Given the description of an element on the screen output the (x, y) to click on. 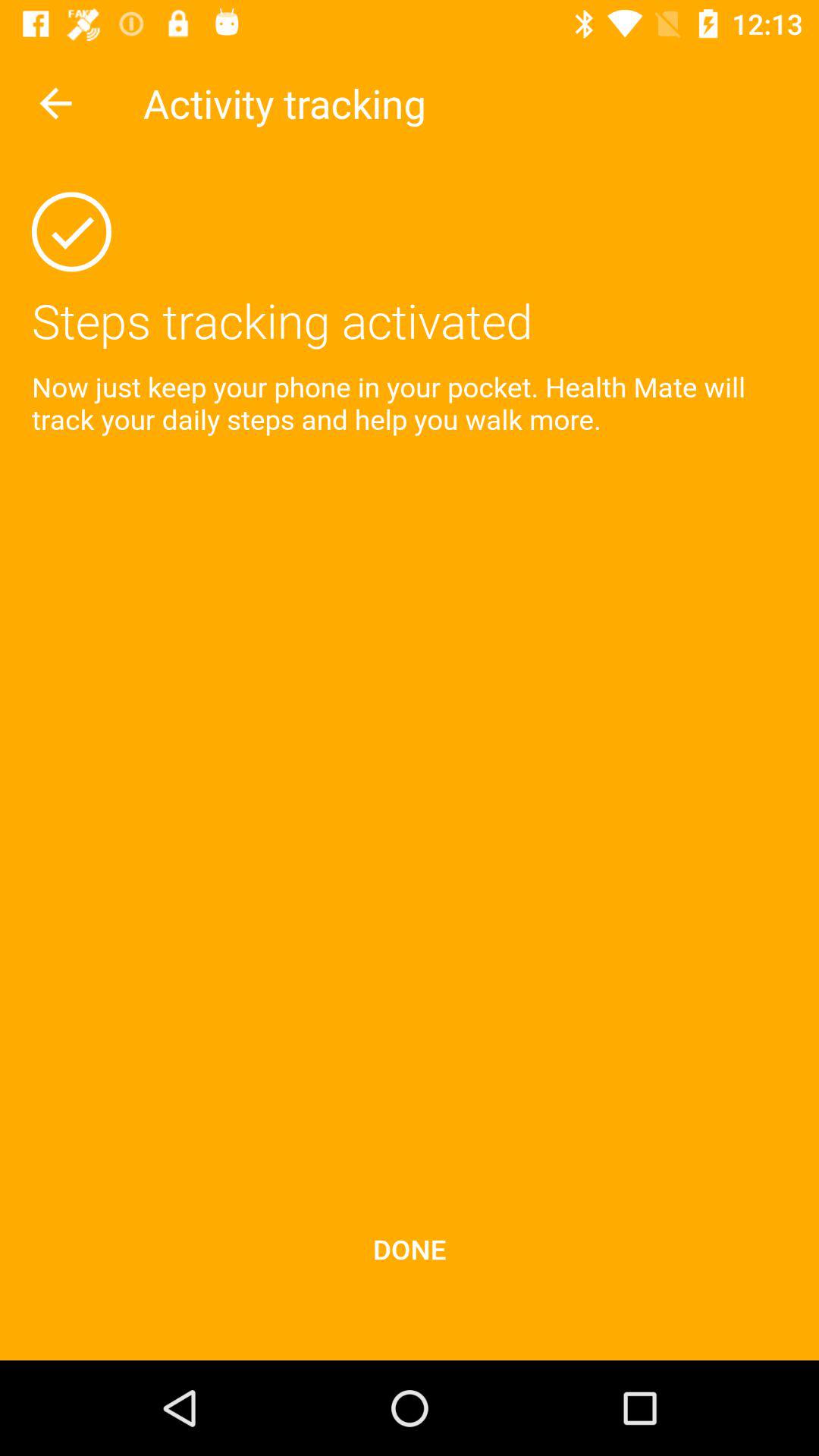
undo button (55, 103)
